Given the description of an element on the screen output the (x, y) to click on. 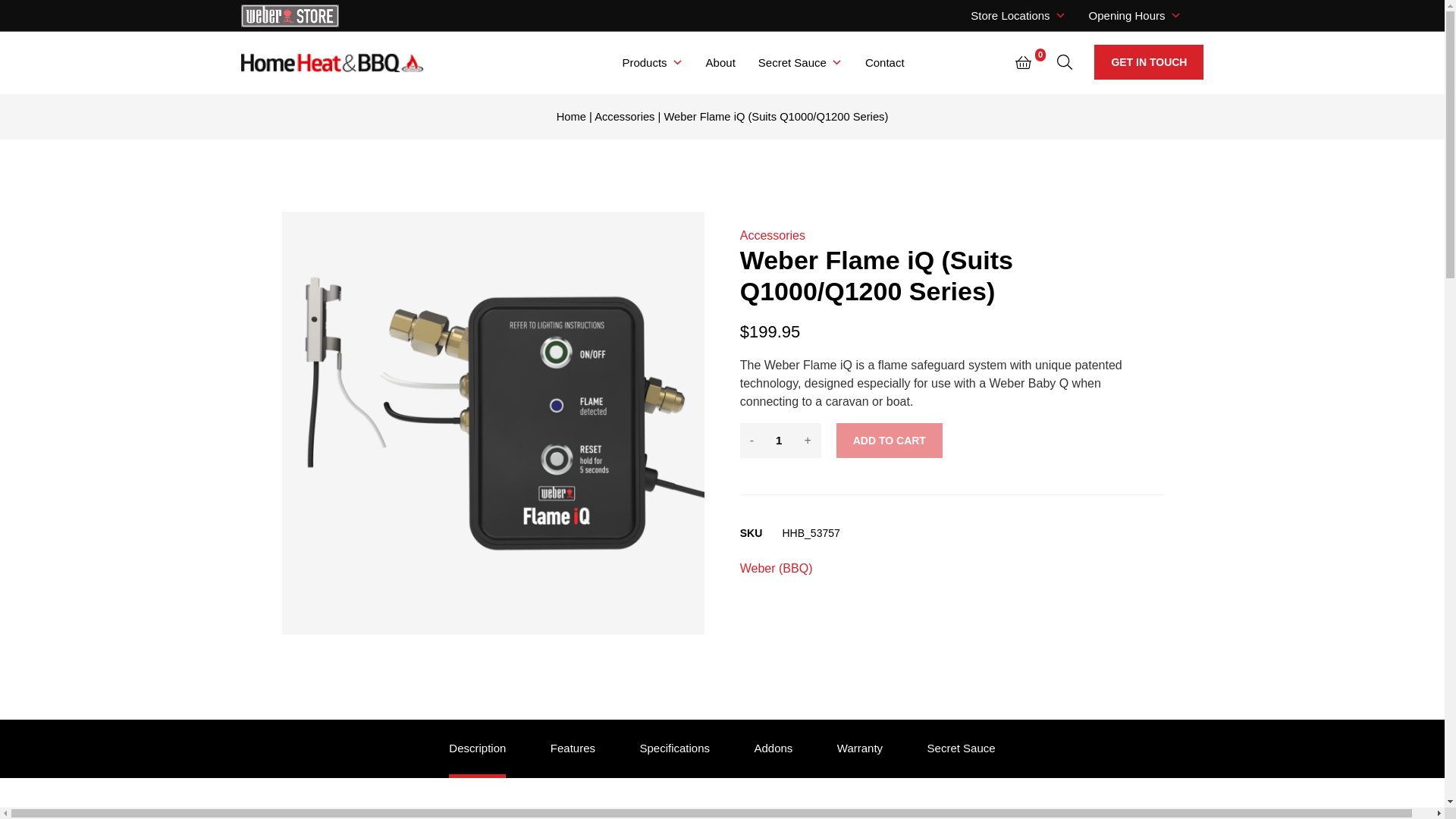
Secret Sauce (799, 62)
Products (652, 62)
About (720, 62)
Opening Hours (1134, 15)
Store Locations (1018, 15)
View brand (775, 568)
